Given the description of an element on the screen output the (x, y) to click on. 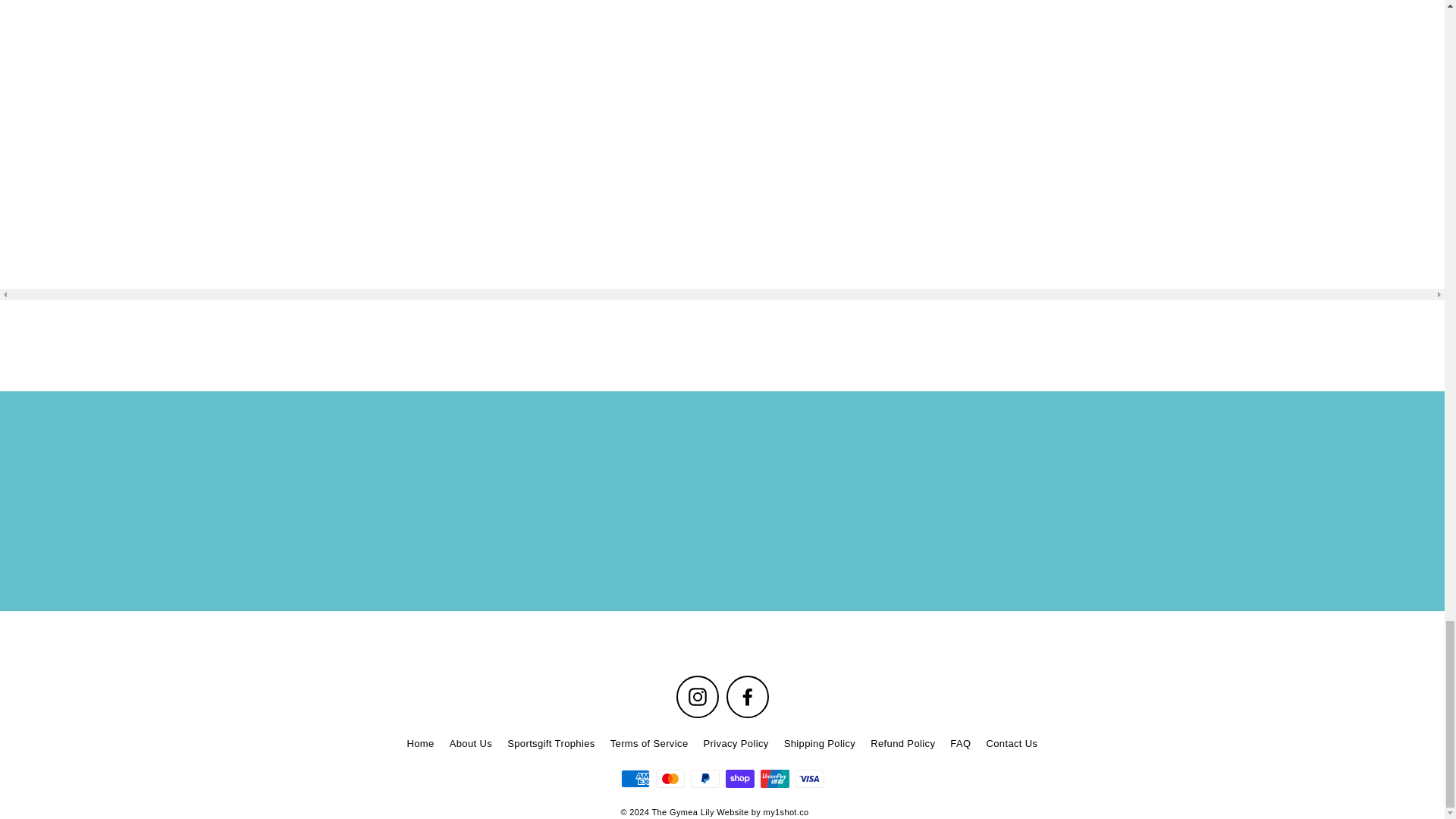
American Express (634, 778)
Union Pay (774, 778)
Shop Pay (739, 778)
PayPal (704, 778)
The Gymea Lily on Facebook (747, 696)
Mastercard (669, 778)
Visa (809, 778)
The Gymea Lily on Instagram (698, 696)
